Given the description of an element on the screen output the (x, y) to click on. 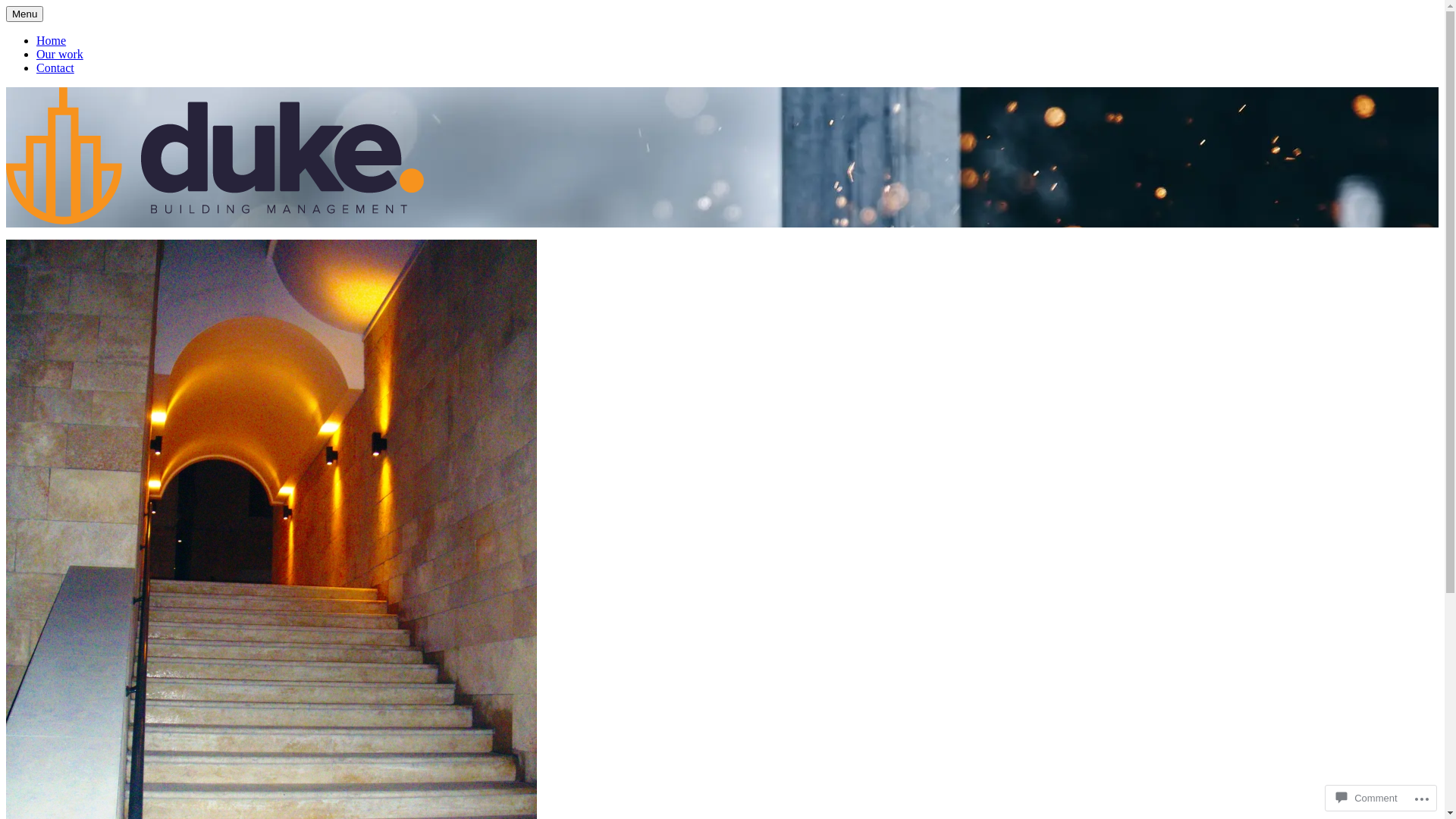
Comment Element type: text (1366, 797)
Home Element type: text (50, 40)
Our work Element type: text (59, 53)
Contact Element type: text (55, 67)
Menu Element type: text (24, 13)
